Given the description of an element on the screen output the (x, y) to click on. 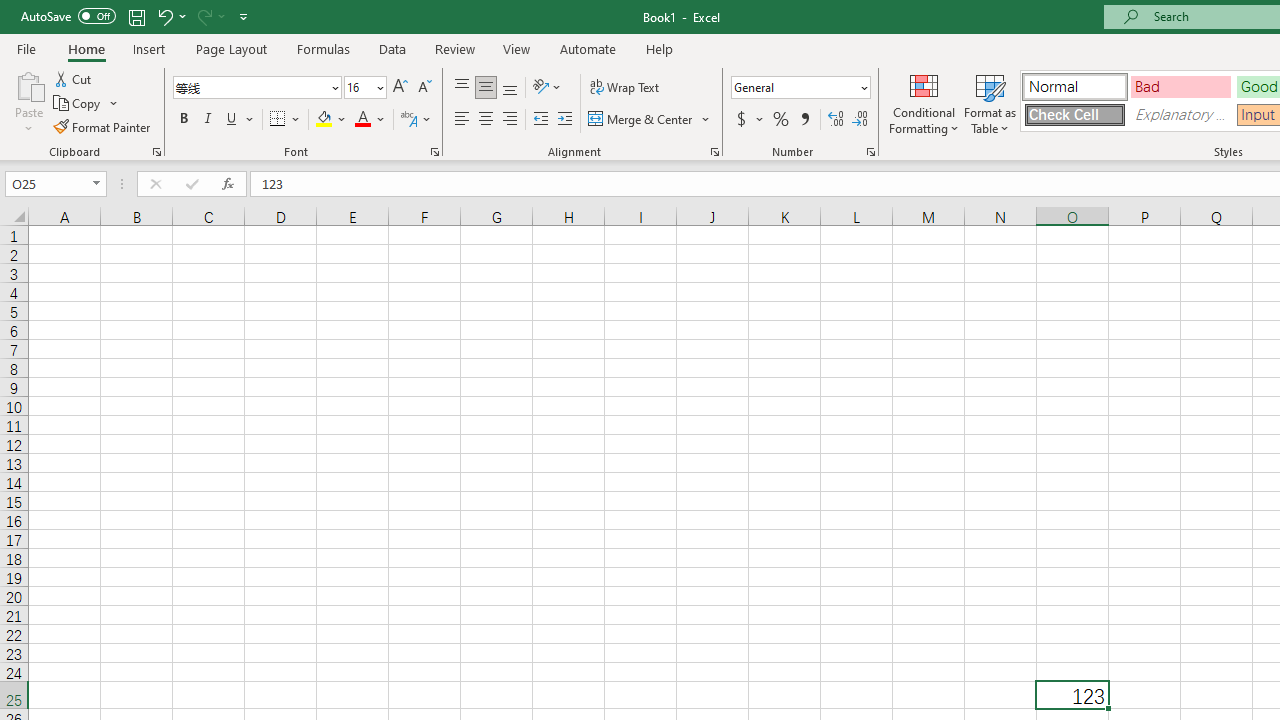
Percent Style (781, 119)
Show Phonetic Field (416, 119)
Align Left (461, 119)
Font Size (358, 87)
Borders (285, 119)
Italic (207, 119)
Fill Color RGB(255, 255, 0) (324, 119)
Cut (73, 78)
Copy (78, 103)
Number Format (794, 87)
Font (256, 87)
Top Align (461, 87)
Font Size (365, 87)
